Given the description of an element on the screen output the (x, y) to click on. 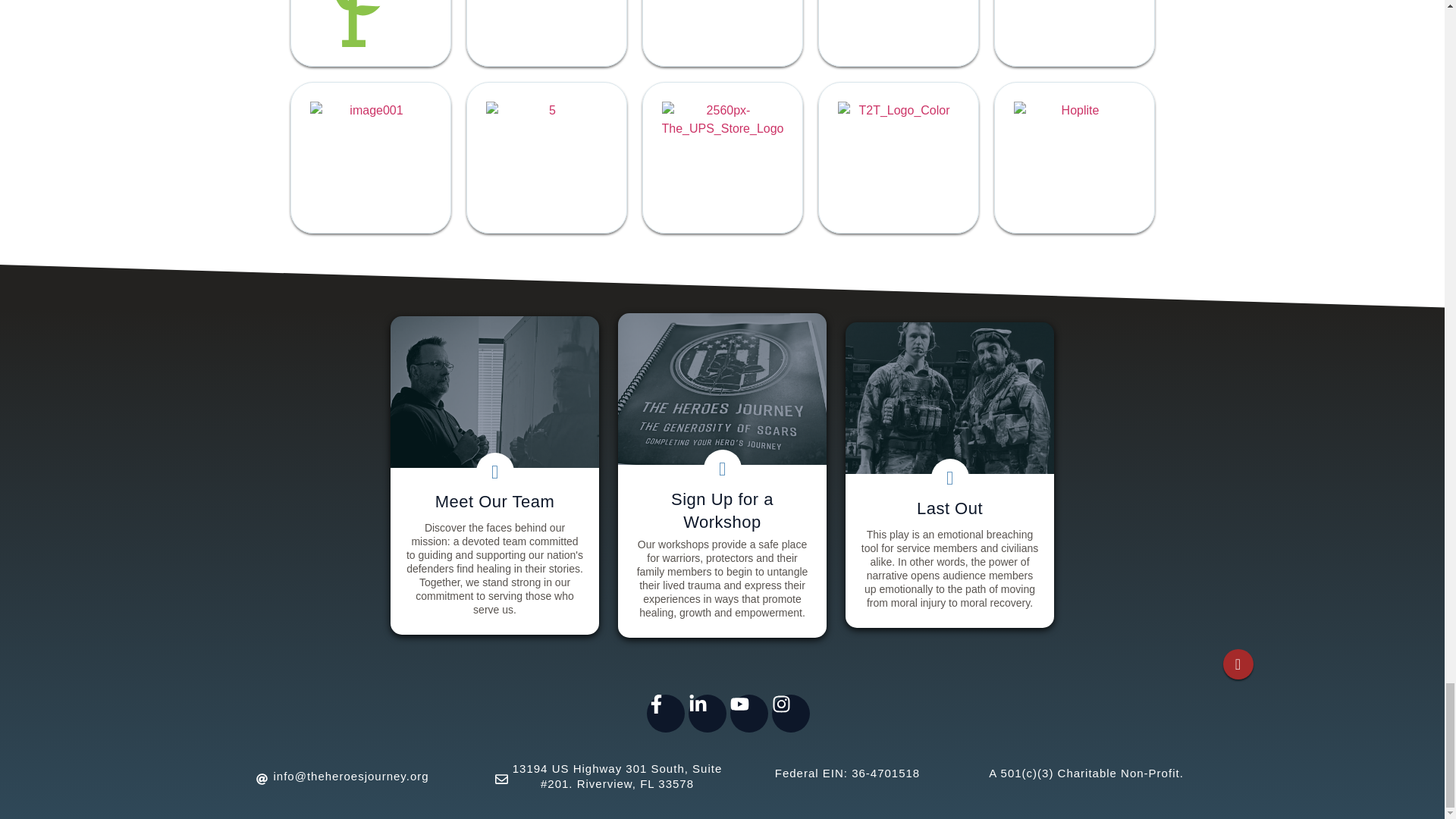
Kathy Steuber (1074, 33)
Hoplite (1074, 157)
UPS store (722, 157)
T2T (898, 157)
PCS Pools (370, 157)
Cook Realty (546, 157)
NVBDC (898, 33)
Red Sash Realty (722, 33)
So Fresh (370, 33)
Reemployability (546, 33)
